Given the description of an element on the screen output the (x, y) to click on. 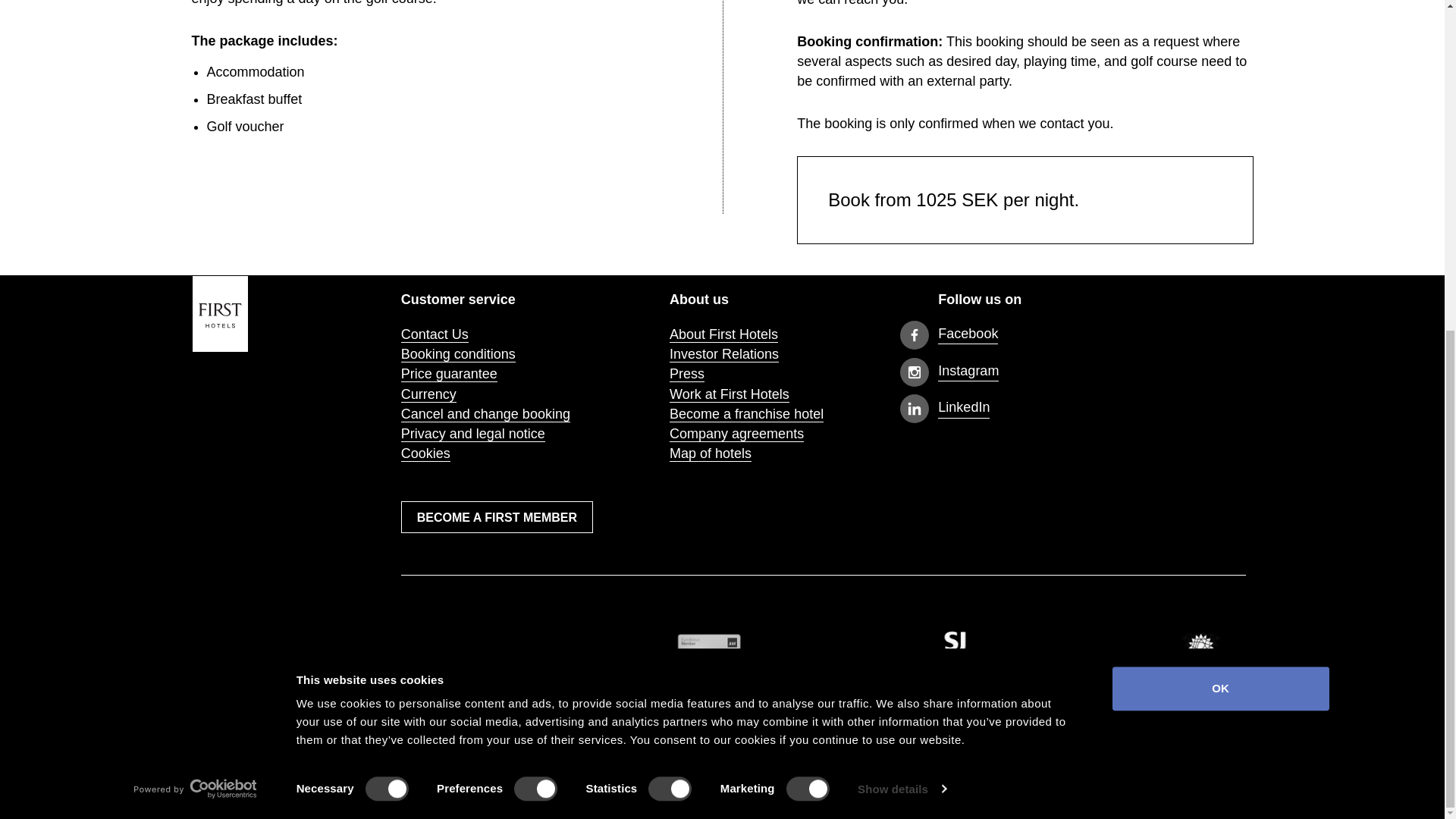
Show details (900, 240)
